Given the description of an element on the screen output the (x, y) to click on. 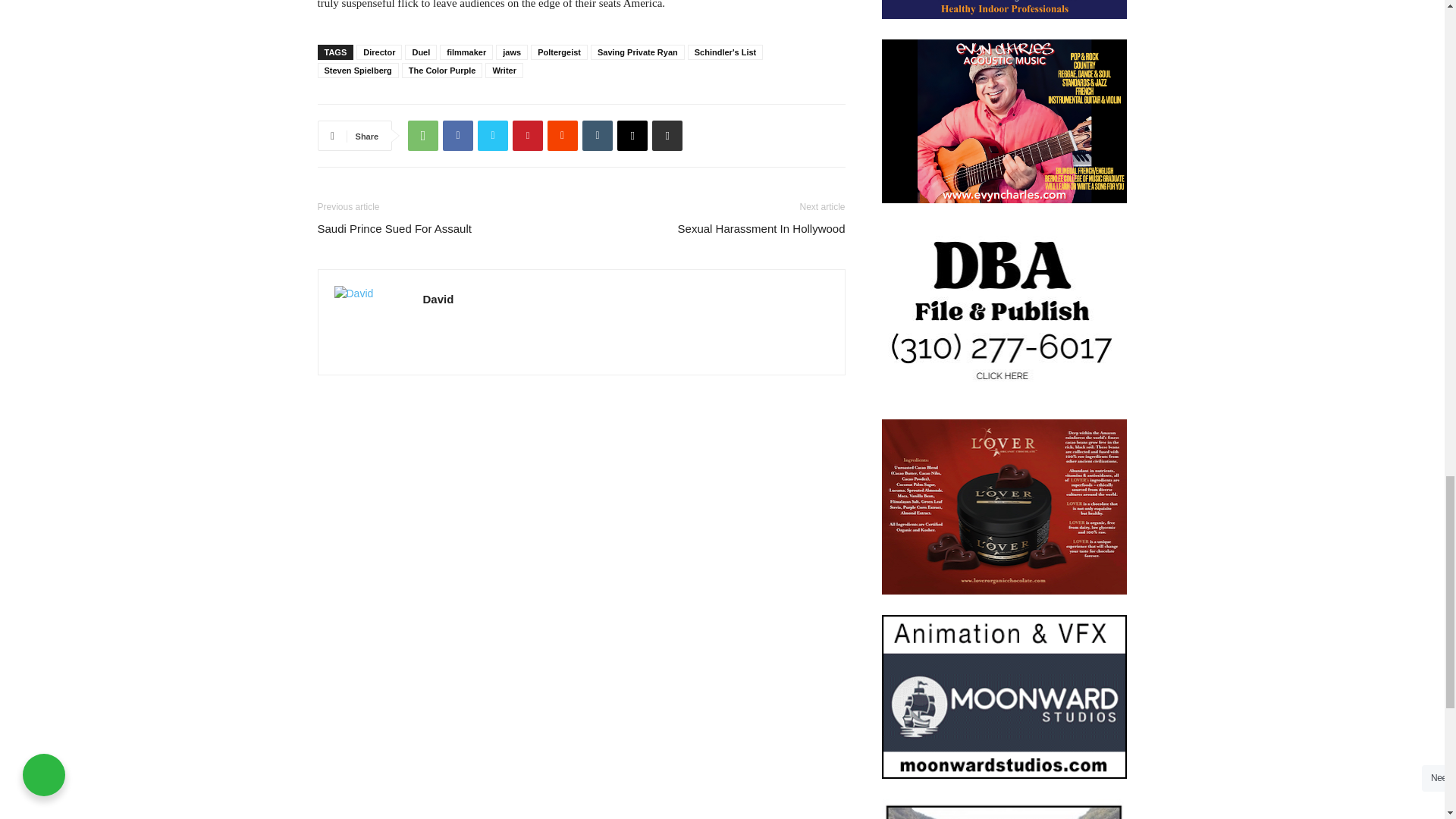
WhatsApp (422, 135)
